Given the description of an element on the screen output the (x, y) to click on. 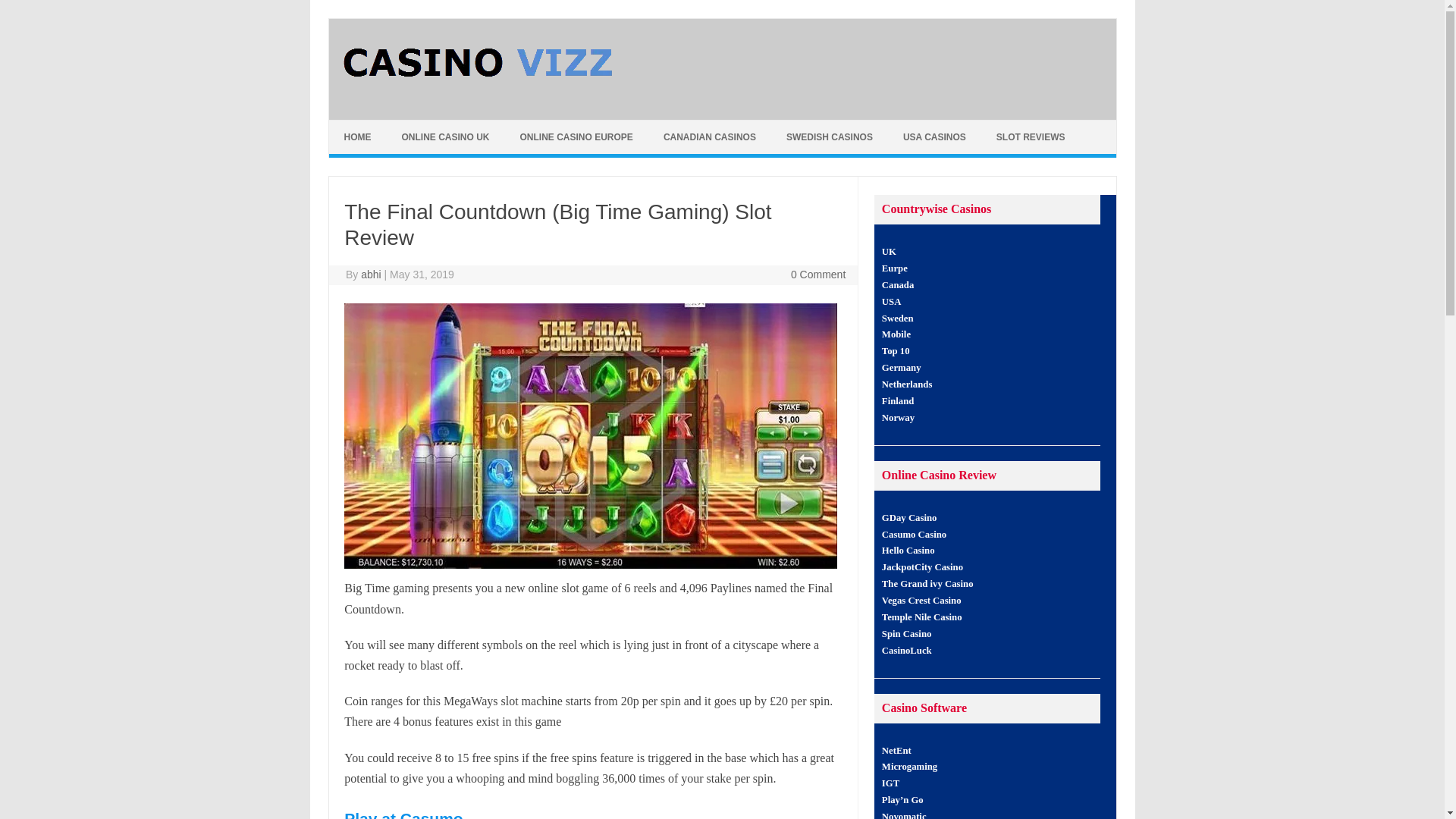
CASINO VIZZ (478, 93)
abhi (370, 274)
Eurpe (894, 267)
Play at Casumo (403, 814)
USA (891, 301)
SWEDISH CASINOS (829, 136)
SLOT REVIEWS (1030, 136)
Posts by abhi (370, 274)
